Given the description of an element on the screen output the (x, y) to click on. 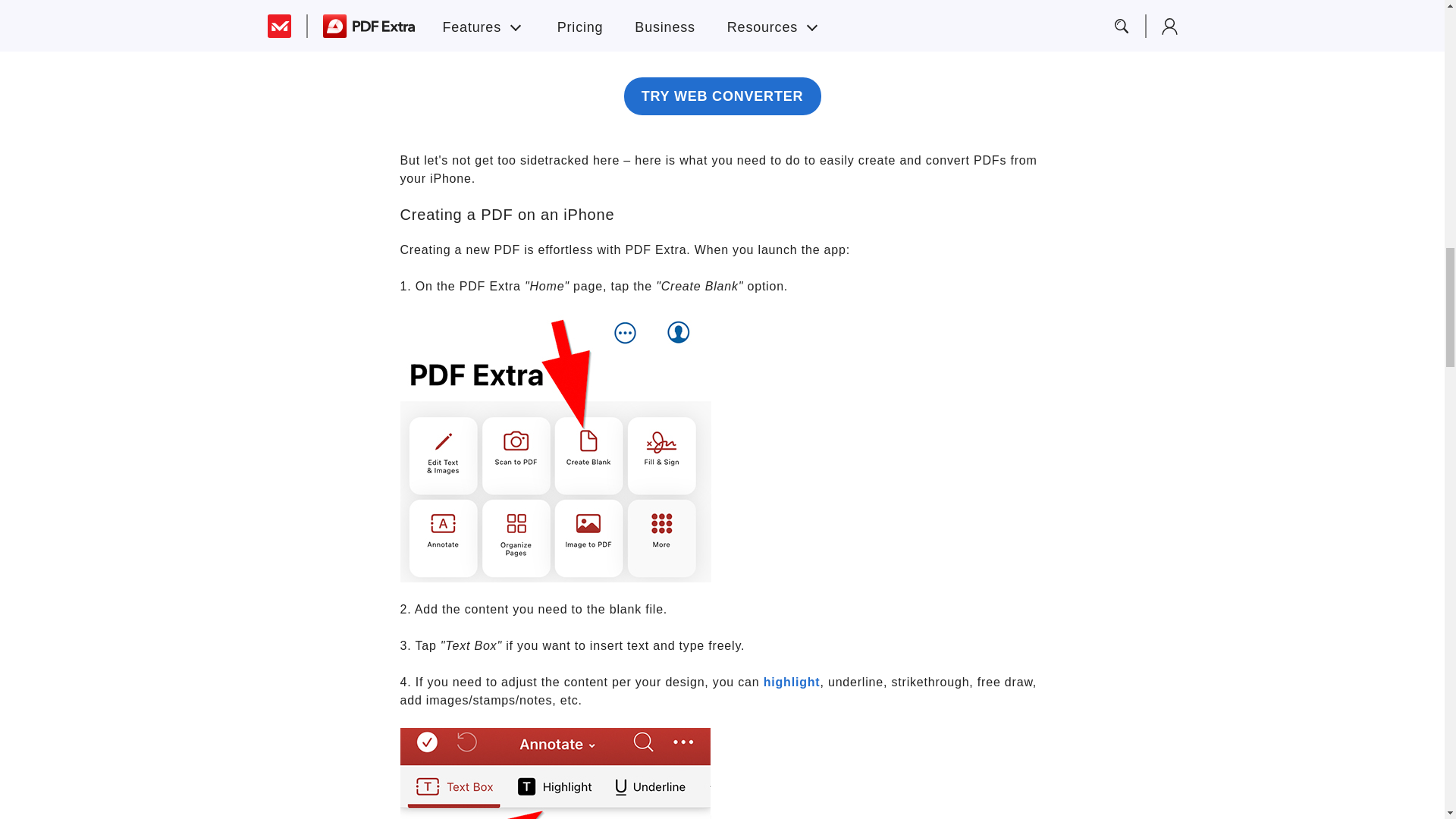
TRY WEB CONVERTER (722, 95)
